Given the description of an element on the screen output the (x, y) to click on. 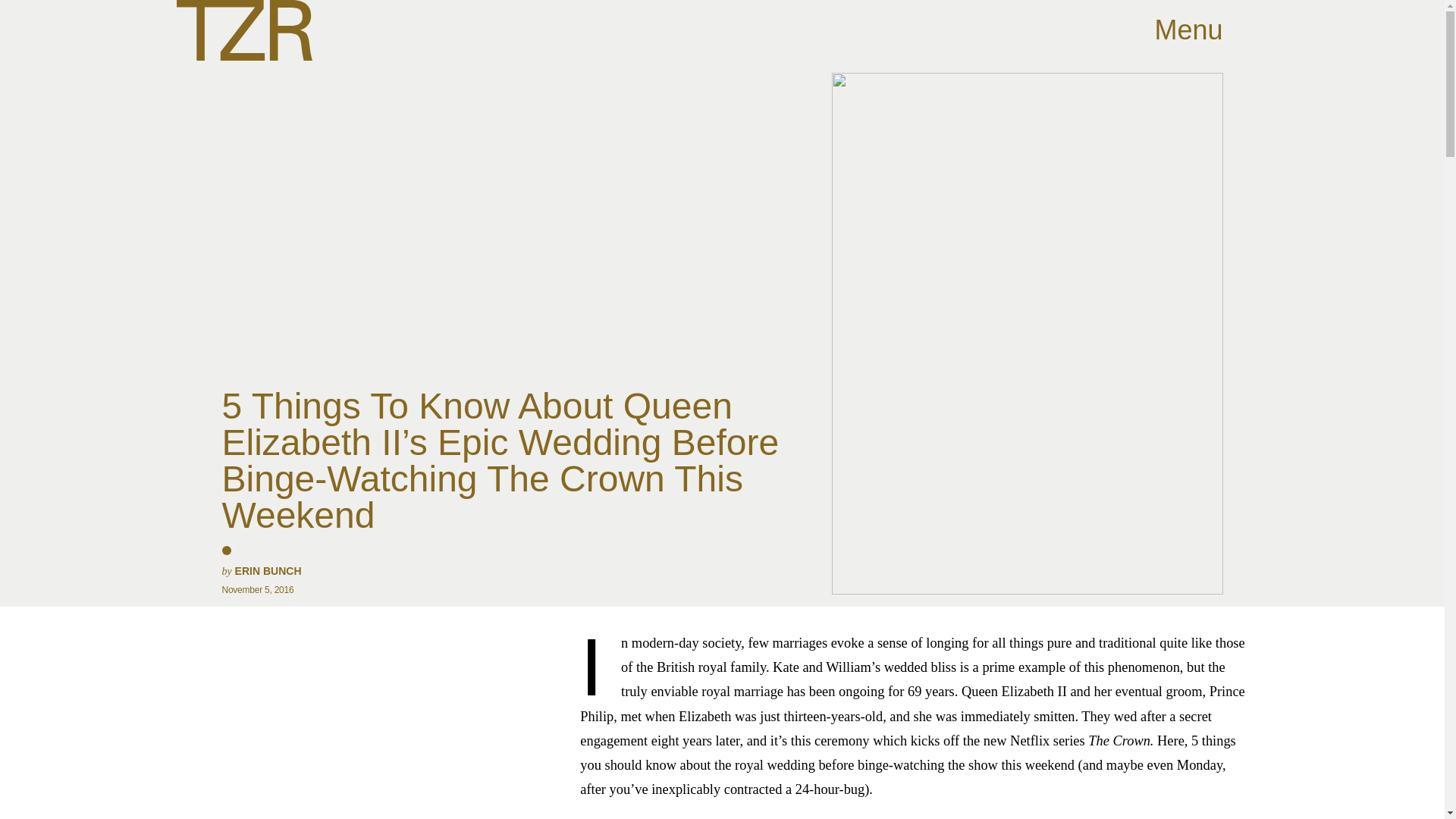
ERIN BUNCH (267, 571)
The Zoe Report (243, 30)
